Given the description of an element on the screen output the (x, y) to click on. 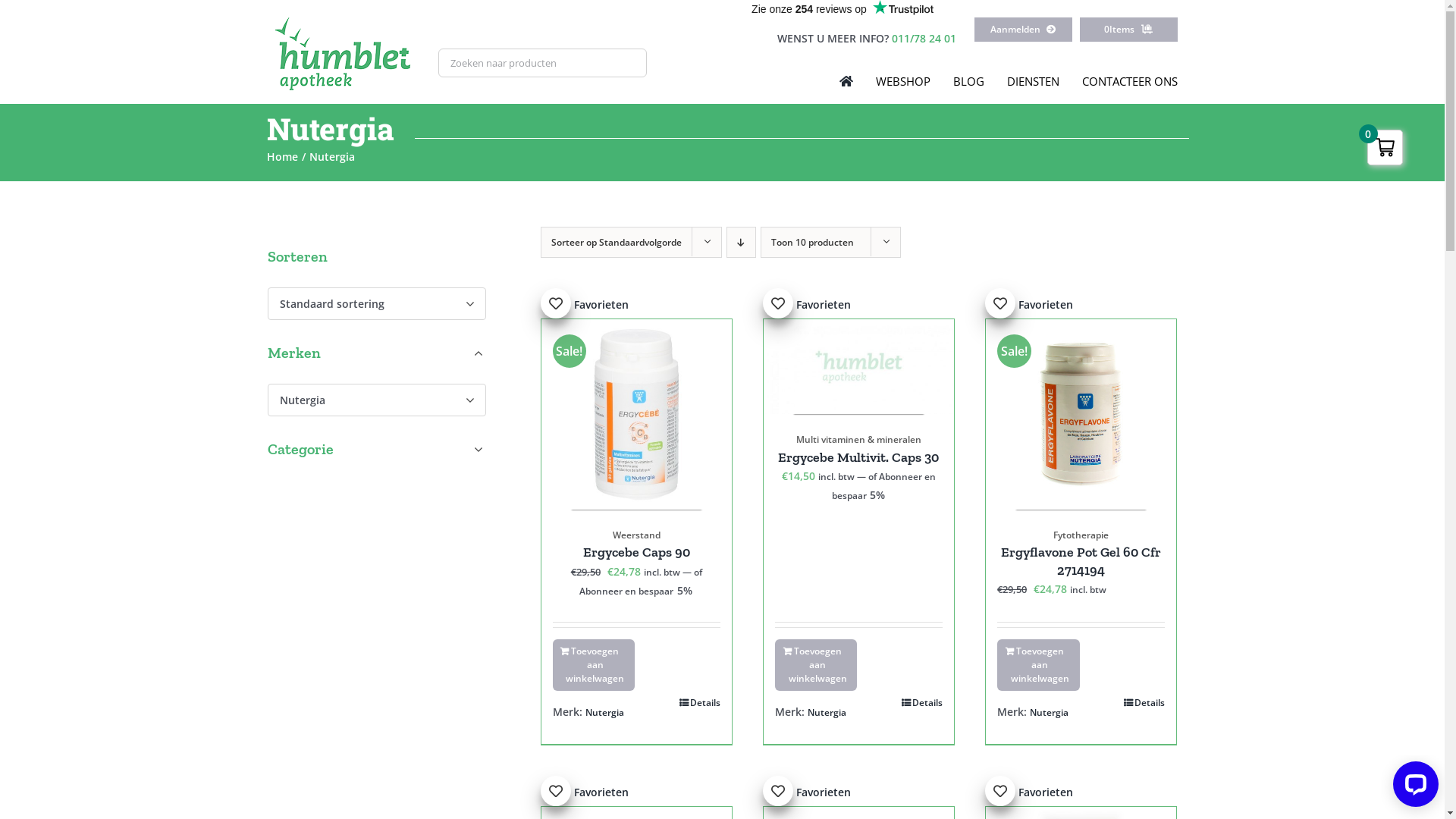
BLOG Element type: text (968, 80)
Nutergia Element type: text (1048, 712)
Sale! Element type: text (1080, 414)
Favorieten Element type: text (806, 791)
Customer reviews powered by Trustpilot Element type: hover (842, 9)
Ergycebe Caps 90 Element type: text (636, 551)
Favorieten Element type: text (1029, 791)
Toevoegen aan winkelwagen Element type: text (592, 664)
Favorieten Element type: text (583, 304)
DIENSTEN Element type: text (1033, 80)
Nutergia Element type: text (826, 712)
Details Element type: text (921, 702)
Favorieten Element type: text (583, 791)
Toon 10 producten Element type: text (811, 241)
Nutergia Element type: text (604, 712)
Details Element type: text (1143, 702)
Sorteer op Standaardvolgorde Element type: text (615, 241)
Favorieten Element type: text (806, 304)
Toevoegen aan winkelwagen Element type: text (1038, 664)
Multi vitaminen & mineralen Element type: text (858, 439)
Toevoegen aan winkelwagen Element type: text (815, 664)
Ergyflavone Pot Gel 60 Cfr 2714194 Element type: text (1081, 560)
0Items Element type: text (1128, 29)
Details Element type: text (699, 702)
Weerstand Element type: text (636, 534)
Ergycebe Multivit. Caps 30 Element type: text (858, 456)
CONTACTEER ONS Element type: text (1129, 80)
Sale! Element type: text (636, 414)
Favorieten Element type: text (1029, 304)
Home Element type: text (282, 156)
WEBSHOP Element type: text (902, 80)
Fytotherapie Element type: text (1080, 534)
Aanmelden Element type: text (1023, 29)
011/78 24 01 Element type: text (923, 38)
